Given the description of an element on the screen output the (x, y) to click on. 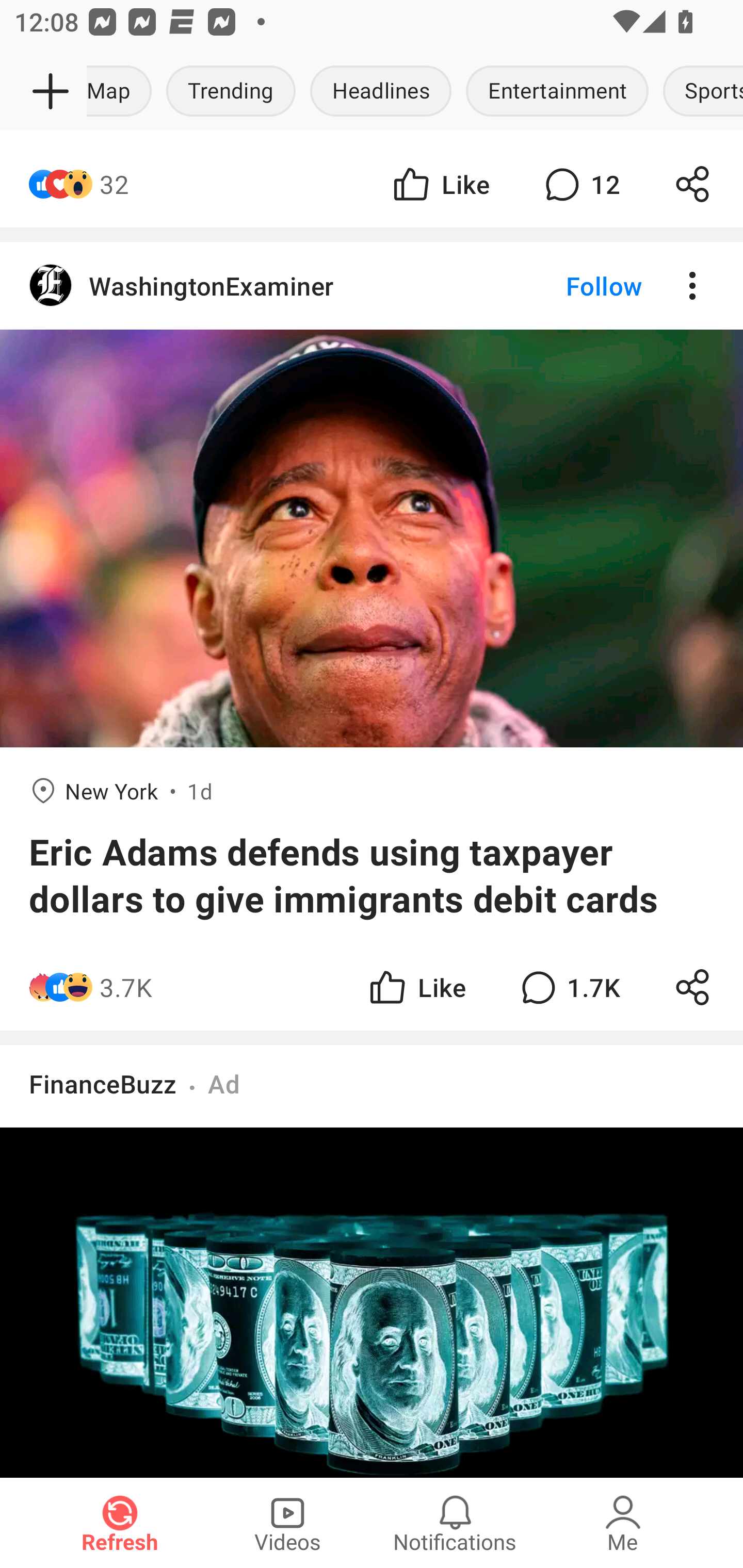
Crime Map (122, 91)
Trending (231, 91)
Headlines (380, 91)
Entertainment (557, 91)
32 (114, 184)
Like (439, 184)
12 (579, 184)
WashingtonExaminer Follow (371, 285)
Follow (569, 285)
3.7K (125, 986)
Like (416, 986)
1.7K (568, 986)
FinanceBuzz (102, 1083)
Videos (287, 1522)
Notifications (455, 1522)
Me (622, 1522)
